Given the description of an element on the screen output the (x, y) to click on. 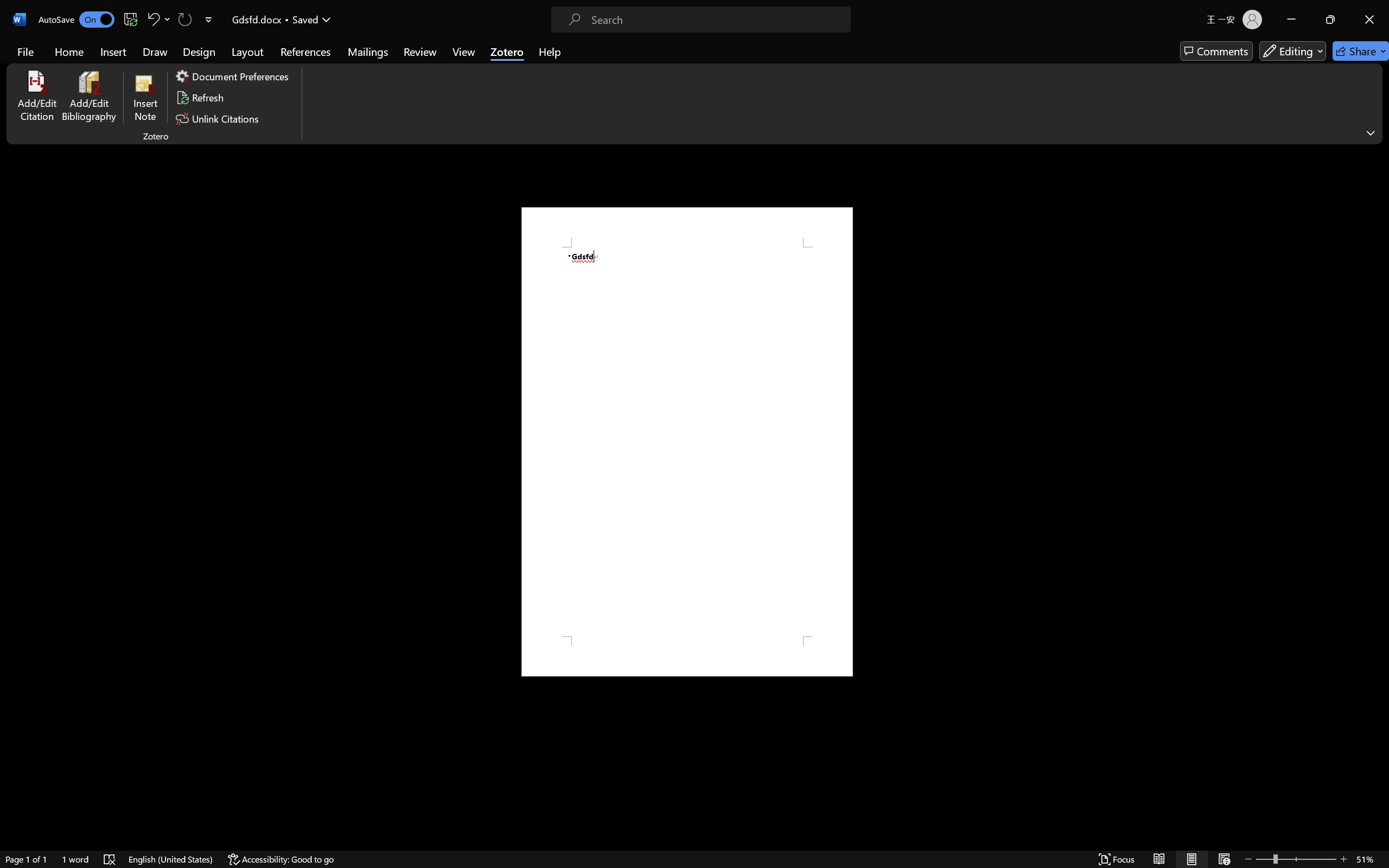
Page 1 content (686, 441)
